Given the description of an element on the screen output the (x, y) to click on. 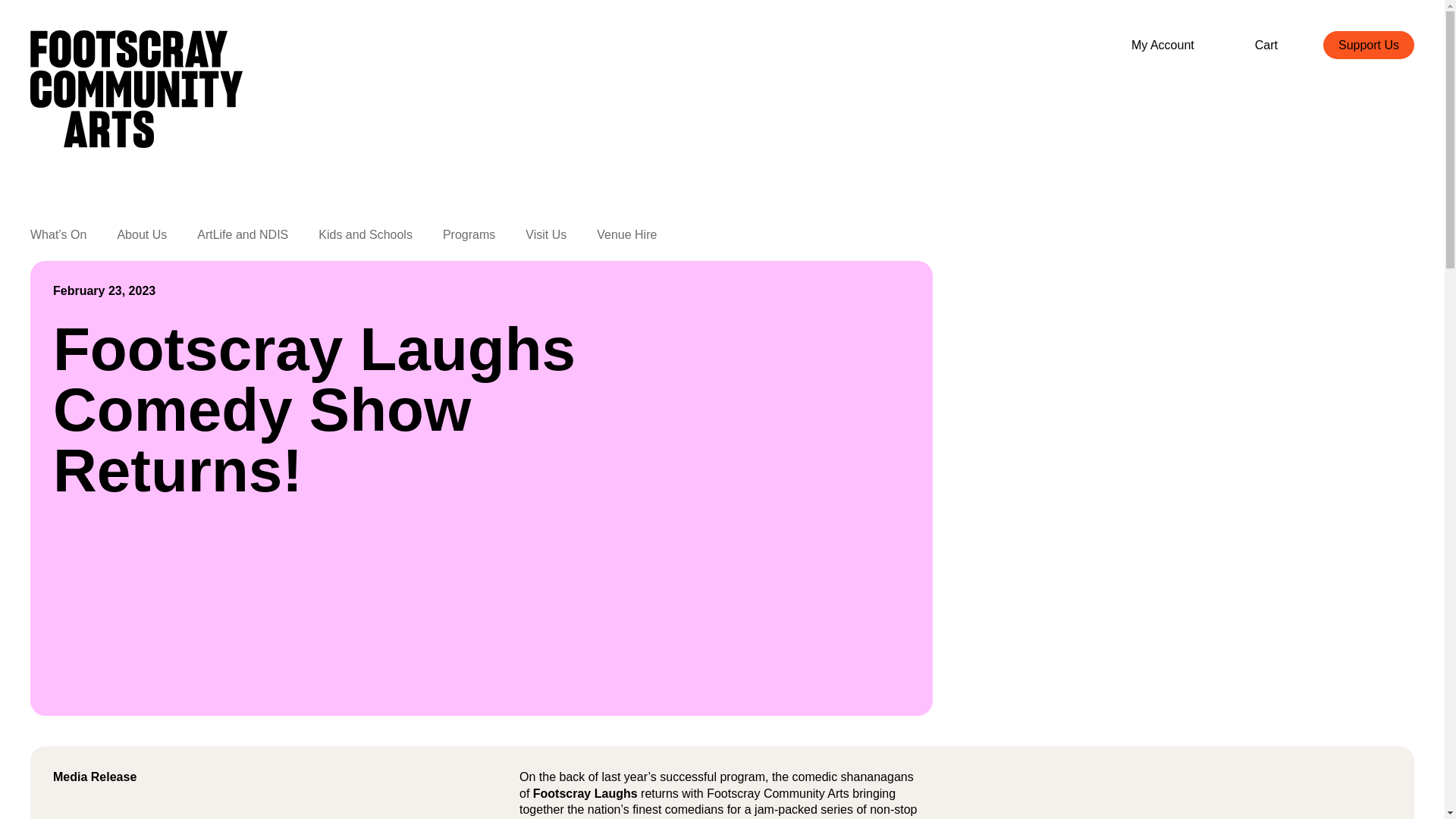
Venue Hire (626, 239)
My Account (1162, 44)
Kids and Schools (365, 239)
ArtLife and NDIS (242, 239)
Programs (468, 239)
About Us (141, 239)
Visit Us (545, 239)
Cart (1266, 44)
